Given the description of an element on the screen output the (x, y) to click on. 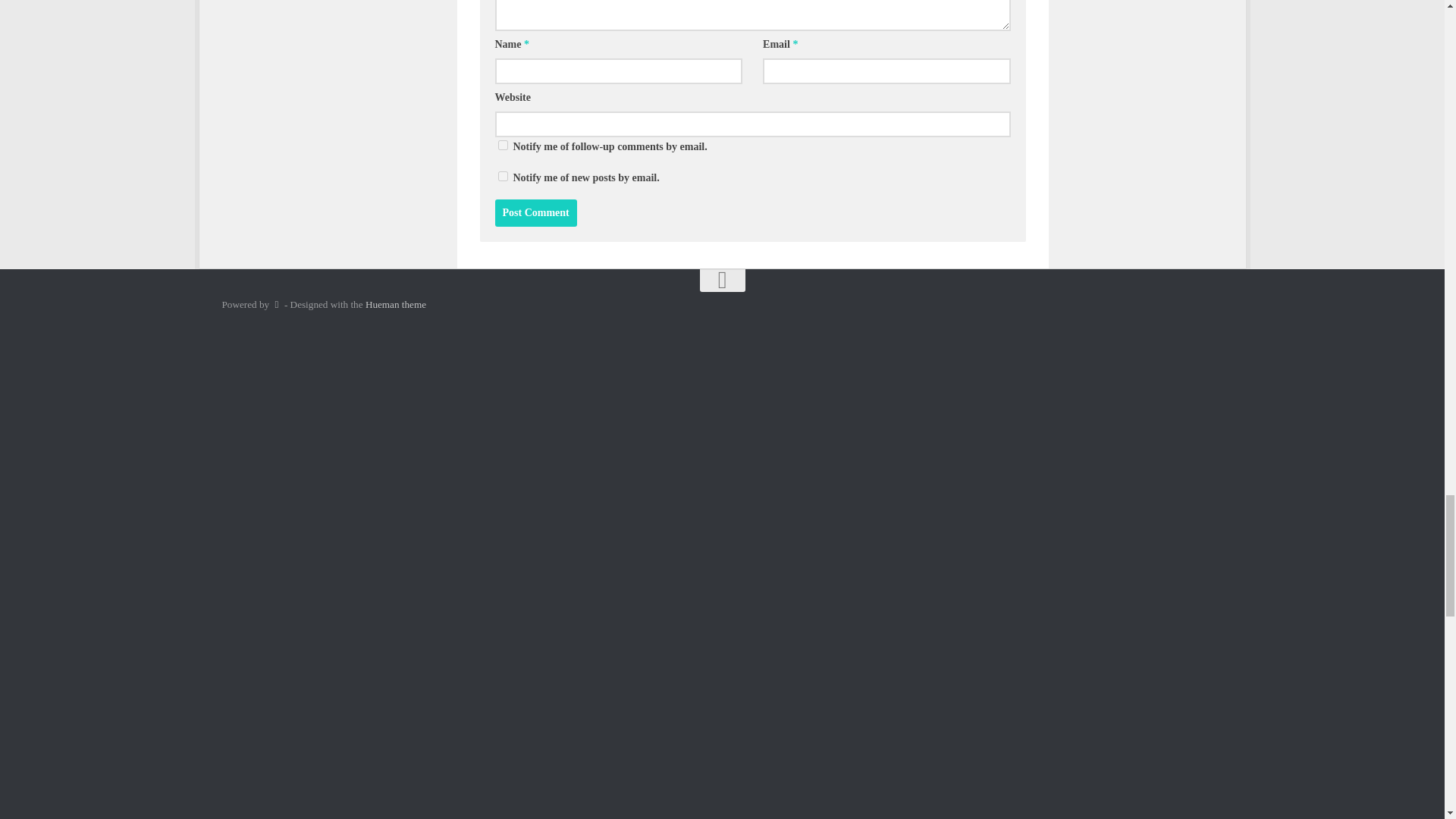
subscribe (501, 175)
subscribe (501, 144)
Post Comment (535, 212)
